Given the description of an element on the screen output the (x, y) to click on. 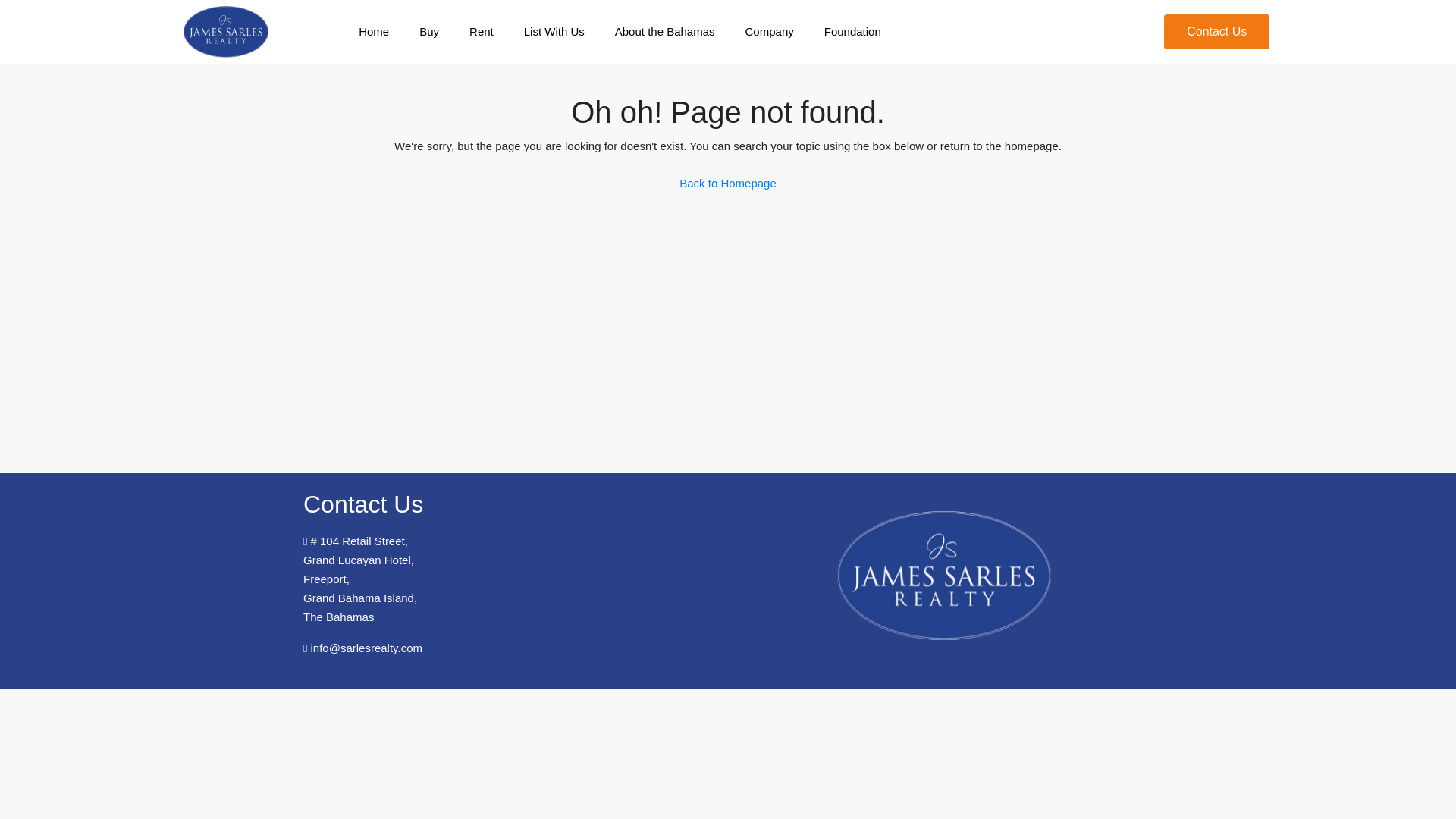
Rent (481, 31)
Buy (429, 31)
Home (373, 31)
